Given the description of an element on the screen output the (x, y) to click on. 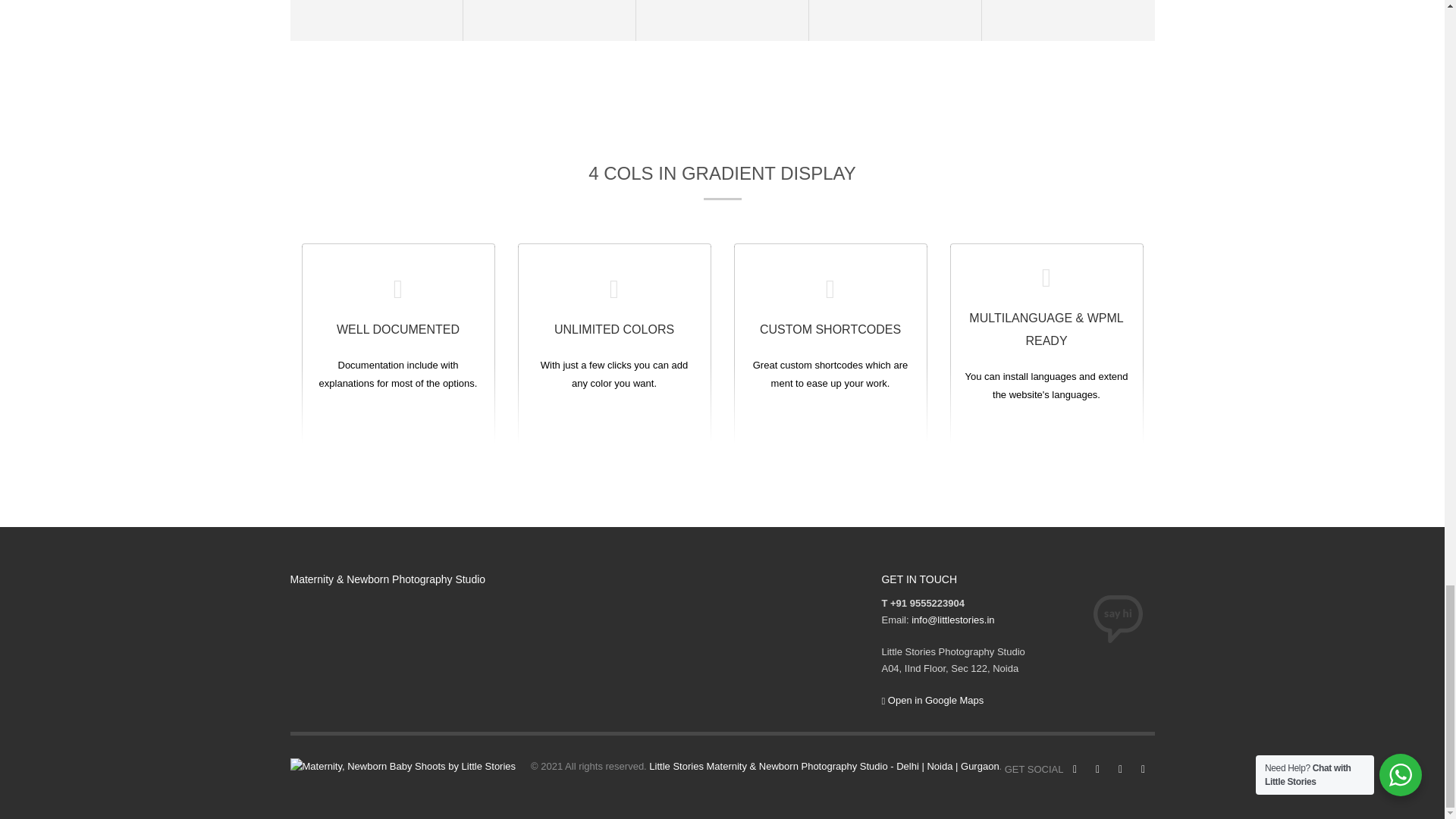
SEE MORE (398, 341)
Instagram (1097, 769)
Google (1142, 769)
Pinterest (1119, 769)
Like us on Facebook! (1074, 769)
